Given the description of an element on the screen output the (x, y) to click on. 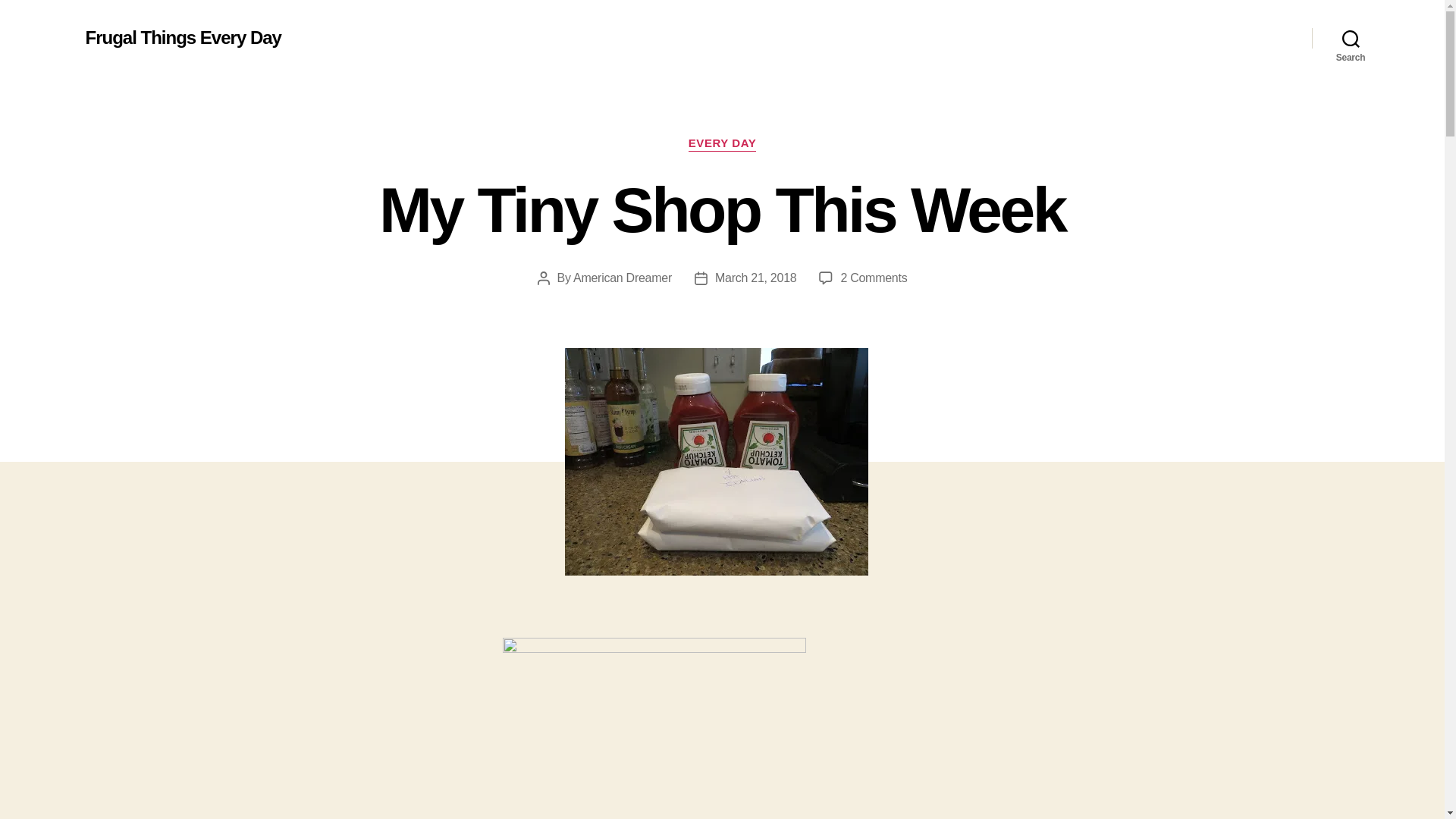
March 21, 2018 (755, 277)
American Dreamer (622, 277)
Frugal Things Every Day (873, 277)
Search (182, 37)
EVERY DAY (1350, 37)
